Given the description of an element on the screen output the (x, y) to click on. 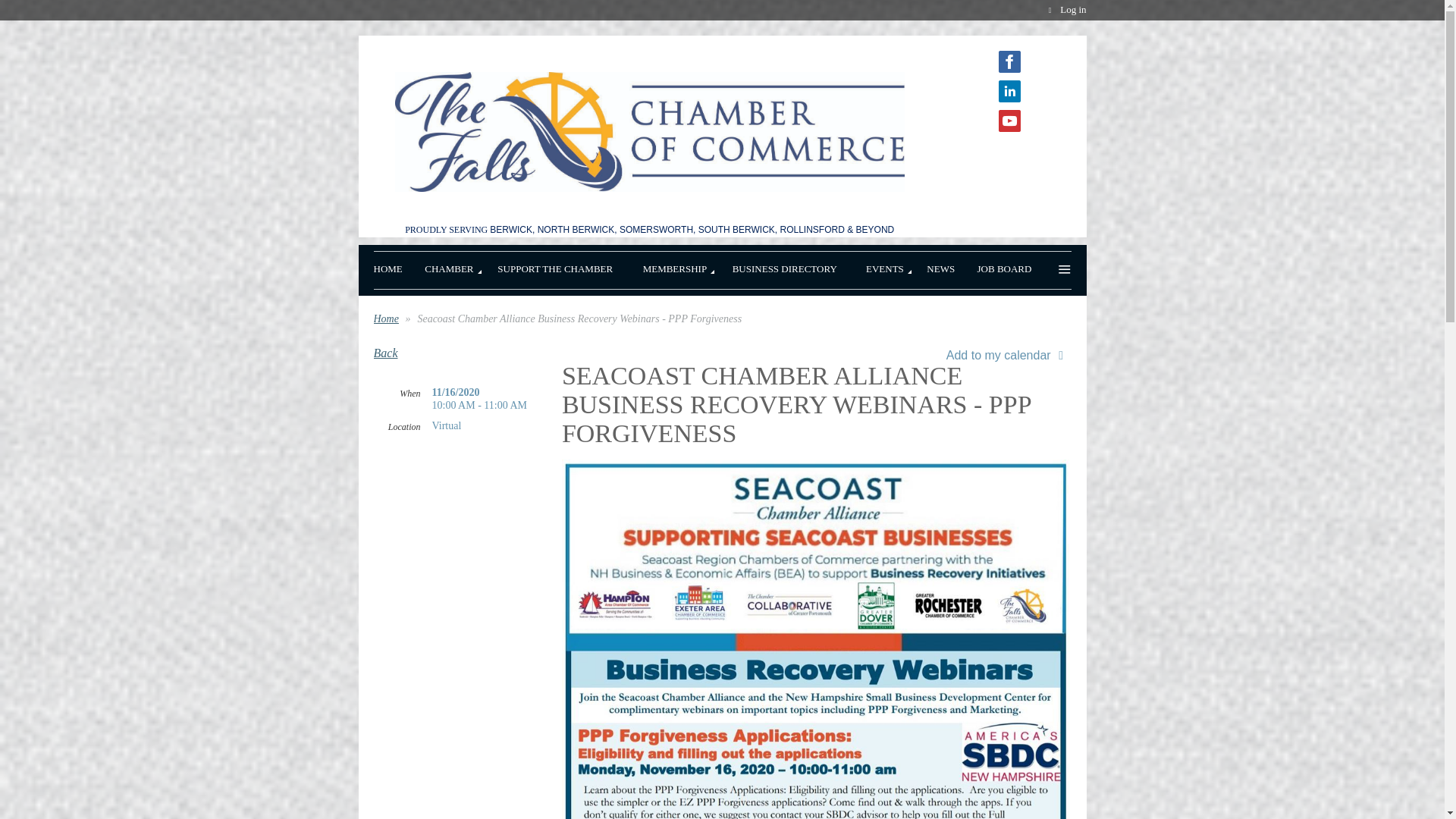
Log in (1064, 10)
CHAMBER (458, 266)
HOME (396, 266)
SUPPORT THE CHAMBER (563, 266)
MEMBERSHIP (684, 266)
